Given the description of an element on the screen output the (x, y) to click on. 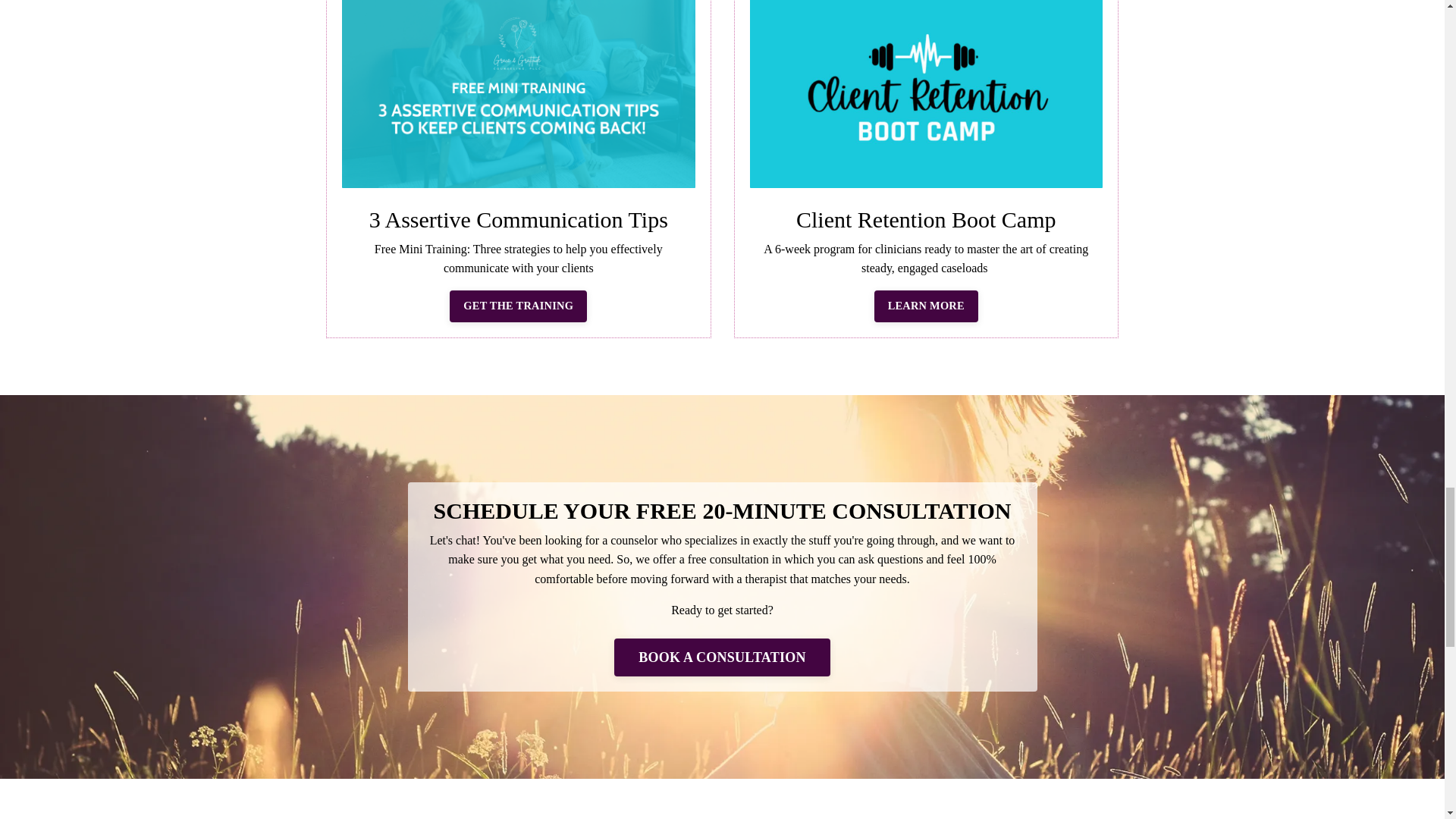
LEARN MORE (926, 306)
GET THE TRAINING (517, 306)
BOOK A CONSULTATION (721, 657)
